Given the description of an element on the screen output the (x, y) to click on. 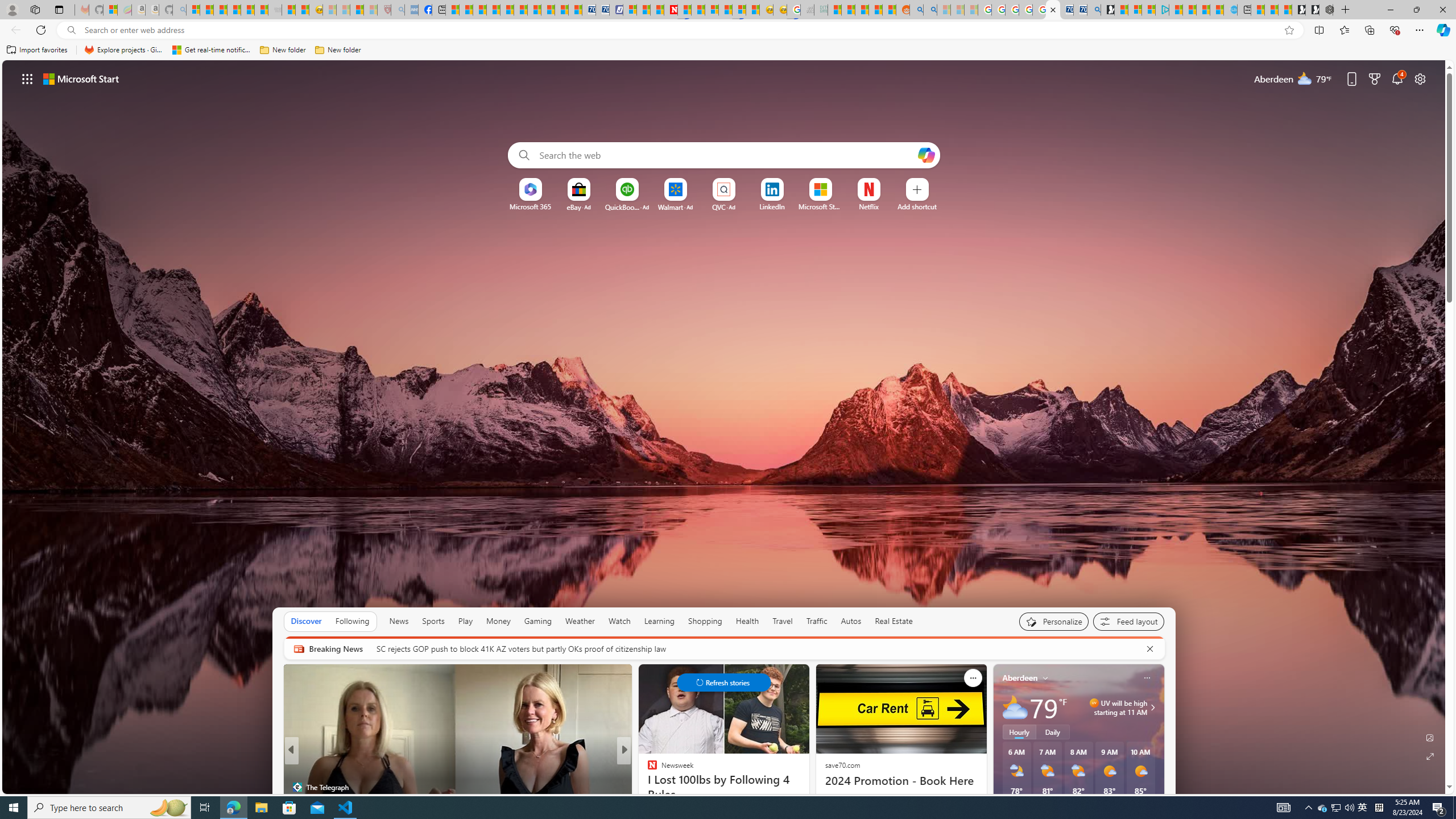
MSNBC - MSN (833, 9)
Shopping (705, 621)
Aberdeen (1019, 678)
Combat Siege - Sleeping (274, 9)
Cancel (1150, 648)
World - MSN (479, 9)
Student Loan Update: Forgiveness Program Ends This Month (874, 9)
Nordace - Nordace Siena Is Not An Ordinary Backpack (1326, 9)
Add a site (916, 206)
